Given the description of an element on the screen output the (x, y) to click on. 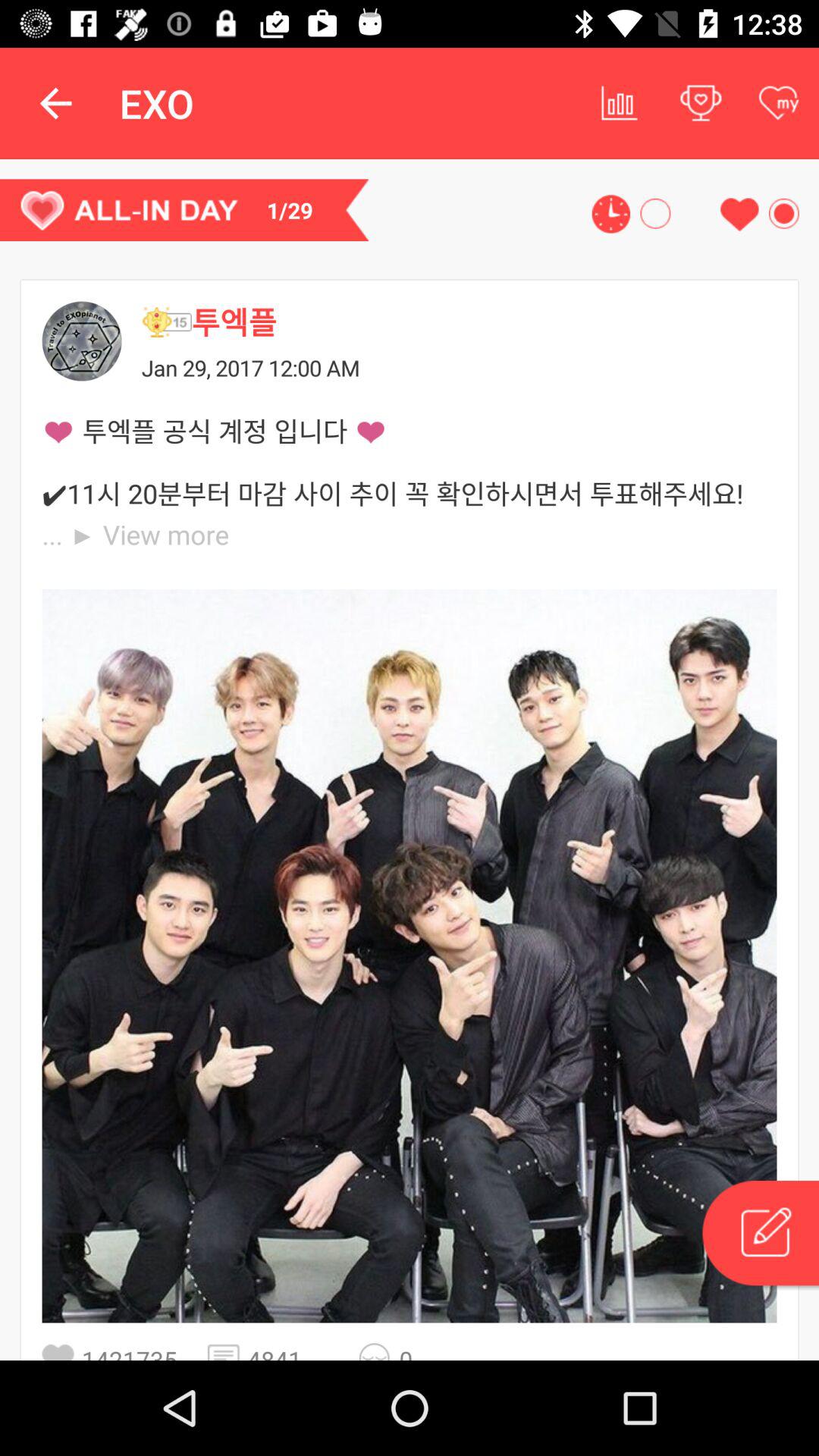
enlarge picture (409, 955)
